Given the description of an element on the screen output the (x, y) to click on. 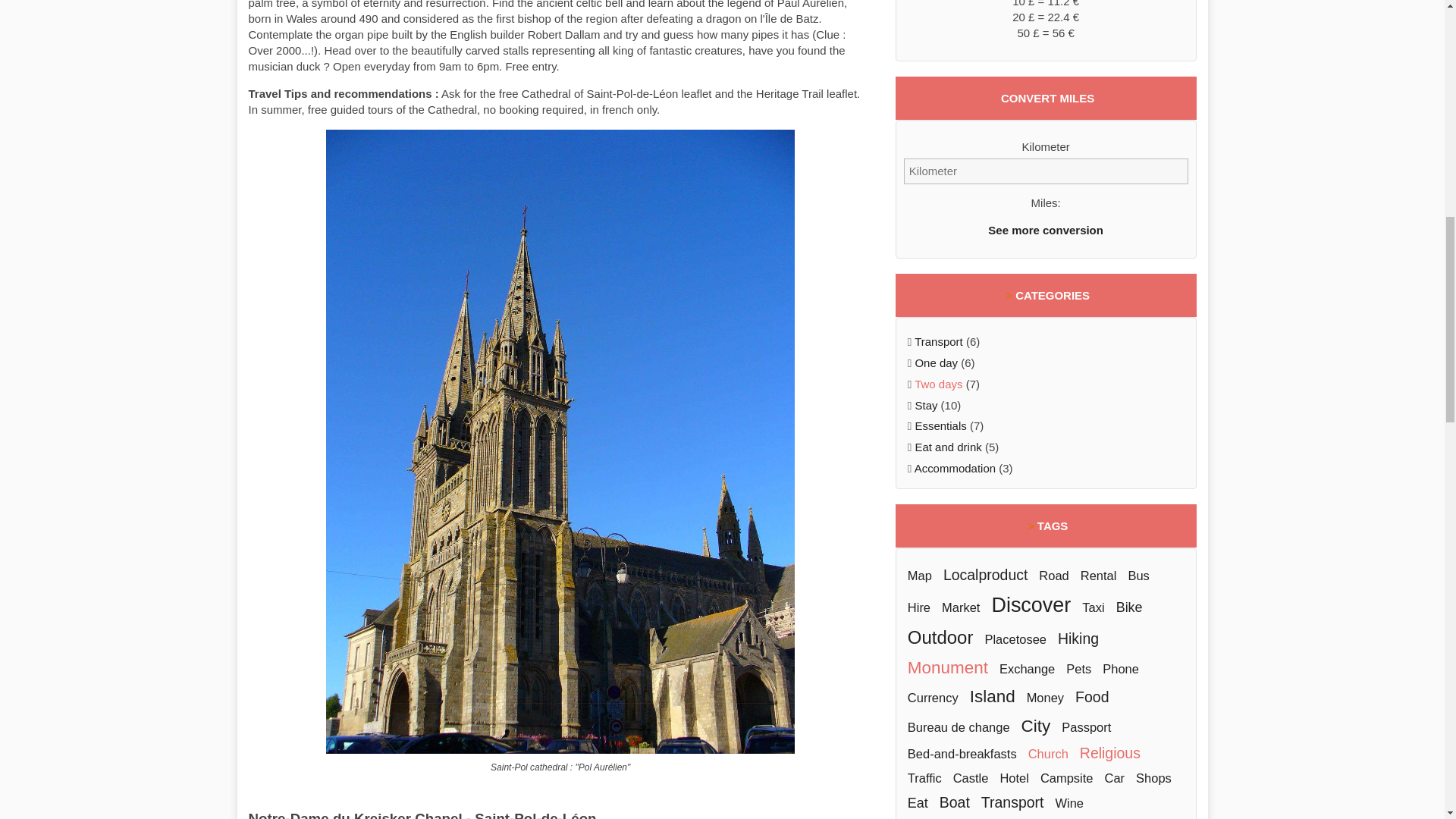
Two days (938, 383)
Accommodation (954, 468)
Stay (925, 404)
localproduct (985, 574)
map (919, 575)
See more conversion (1045, 229)
Eat and drink (947, 446)
Essentials (940, 425)
One day (936, 362)
Transport (938, 341)
